Given the description of an element on the screen output the (x, y) to click on. 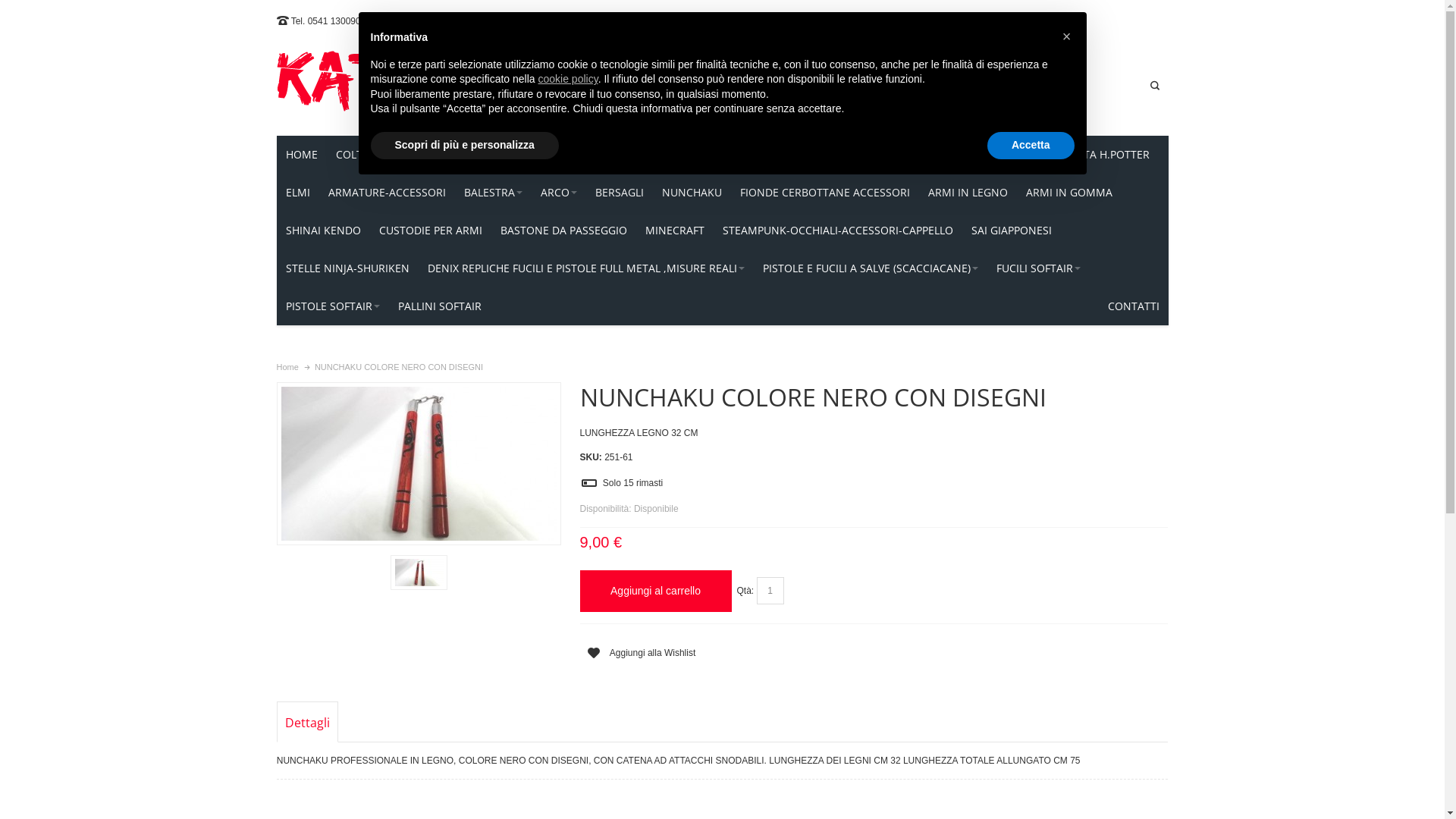
SAI GIAPPONESI Element type: text (1010, 230)
FIONDE CERBOTTANE ACCESSORI Element type: text (825, 192)
HOME Element type: text (301, 154)
Accetta Element type: text (1030, 145)
MINECRAFT Element type: text (673, 230)
COLTELLI ASCIE ACCESSORI   Element type: text (407, 154)
FUCILI SOFTAIR   Element type: text (1038, 268)
BERSAGLI Element type: text (618, 192)
STEAMPUNK-OCCHIALI-ACCESSORI-CAPPELLO Element type: text (836, 230)
Zoom Element type: text (418, 463)
cookie policy Element type: text (568, 78)
PISTOLE E FUCILI A SALVE (SCACCIACANE)  Element type: text (870, 268)
Aggiungi al carrello Element type: text (655, 590)
Cell. 392 5551234 Element type: text (410, 20)
Login/Registrazione Element type: text (847, 84)
Carrello   Element type: text (928, 84)
Aggiungi alla Wishlist Element type: text (637, 653)
ELMI Element type: text (297, 192)
DENIX REPLICHE FUCILI E PISTOLE FULL METAL ,MISURE REALI  Element type: text (585, 268)
BASTONE DA PASSEGGIO Element type: text (563, 230)
ARMATURE-ACCESSORI Element type: text (386, 192)
Home Element type: text (287, 366)
Account Element type: text (702, 84)
CUSTODIE PER ARMI Element type: text (430, 230)
PISTOLE SOFTAIR  Element type: text (332, 306)
SPADE E SCUDI  Element type: text (755, 154)
CONTATTI Element type: text (1132, 306)
NUNCHAKU COLORE NERO CON DISEGNI Element type: hover (418, 463)
PUGNALI SPADINO MEDIEVALE FANTASY Element type: text (916, 154)
PALLINI SOFTAIR Element type: text (438, 306)
SHINAI KENDO Element type: text (322, 230)
NUNCHAKU Element type: text (691, 192)
Tel. 0541 1300906 Element type: text (328, 20)
STELLE NINJA-SHURIKEN Element type: text (346, 268)
KATANA LAMA IN ACCIAO E BAMBOO  Element type: text (596, 154)
Cerca Element type: hover (1154, 85)
ARCO  Element type: text (557, 192)
ARMI IN LEGNO Element type: text (967, 192)
BALESTRA  Element type: text (493, 192)
ARMI IN GOMMA Element type: text (1068, 192)
Lista dei desideri Element type: text (763, 84)
Dettagli Element type: text (307, 721)
BACCHETTA H.POTTER Element type: text (1091, 154)
